Given the description of an element on the screen output the (x, y) to click on. 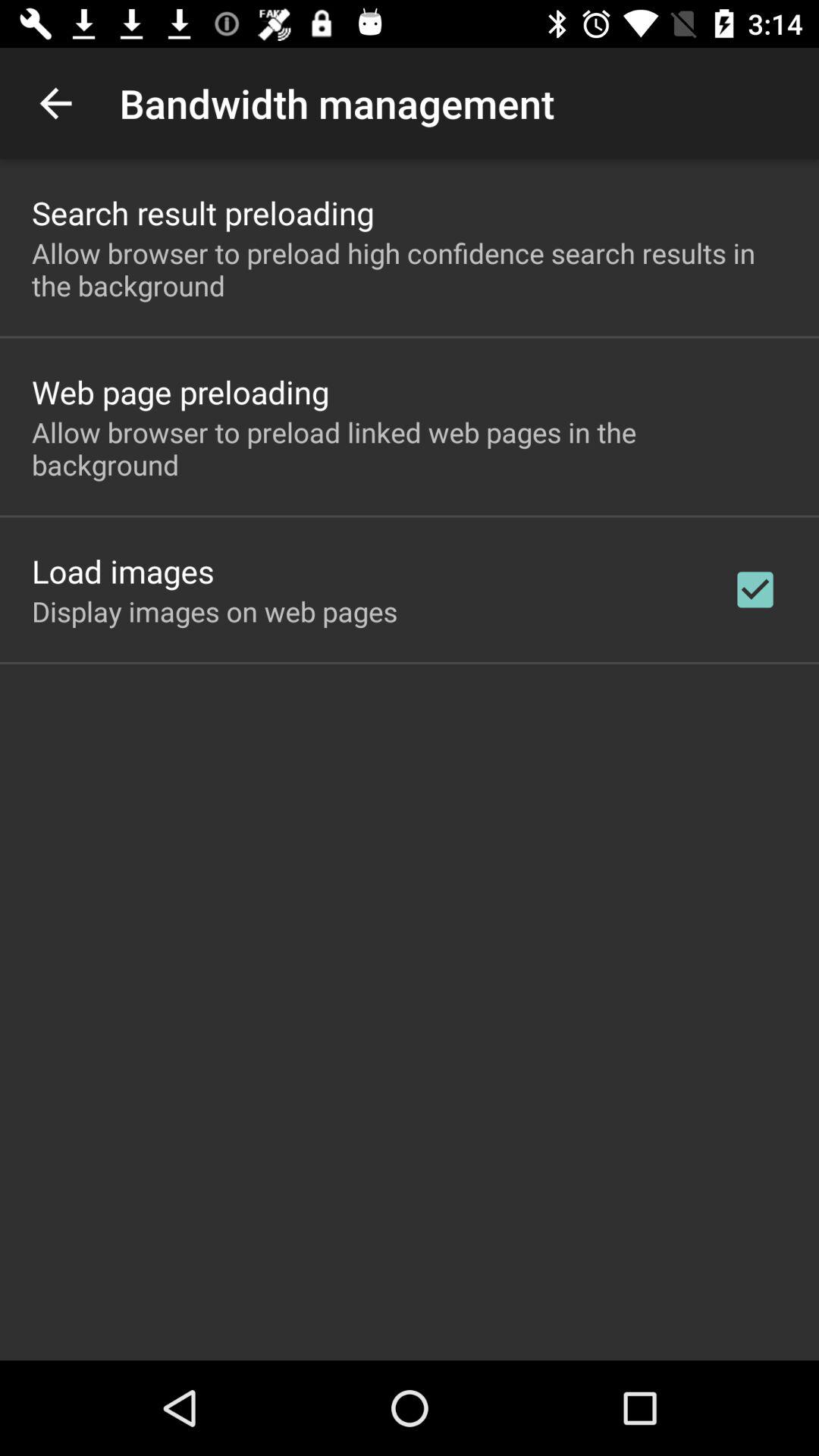
choose the app above the search result preloading icon (55, 103)
